Given the description of an element on the screen output the (x, y) to click on. 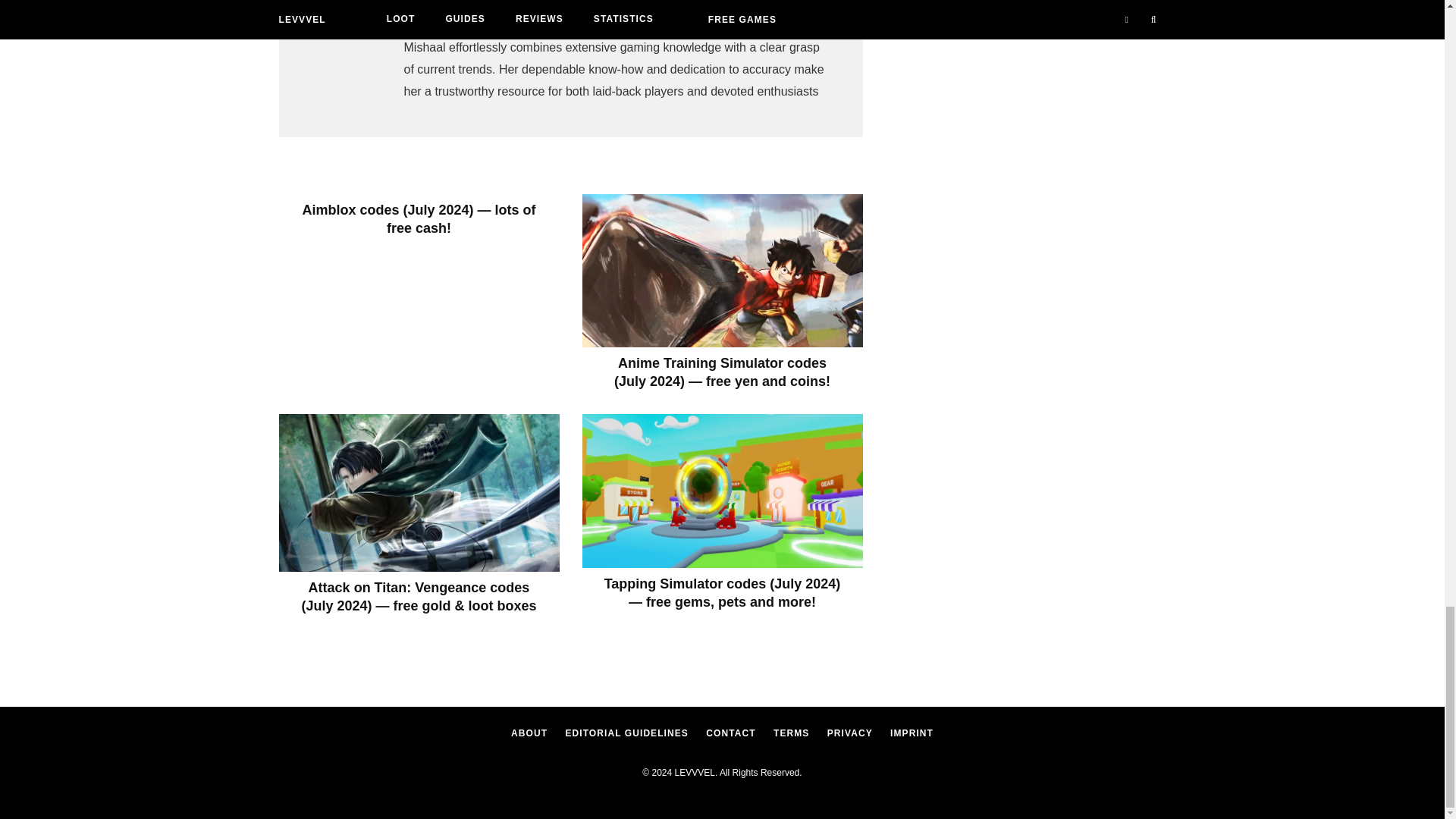
Attack-On-Titan-Vengeance-codes (419, 492)
Tapping-Simulator-codes (722, 490)
Anime-Training-Simulator-codes (722, 270)
